Given the description of an element on the screen output the (x, y) to click on. 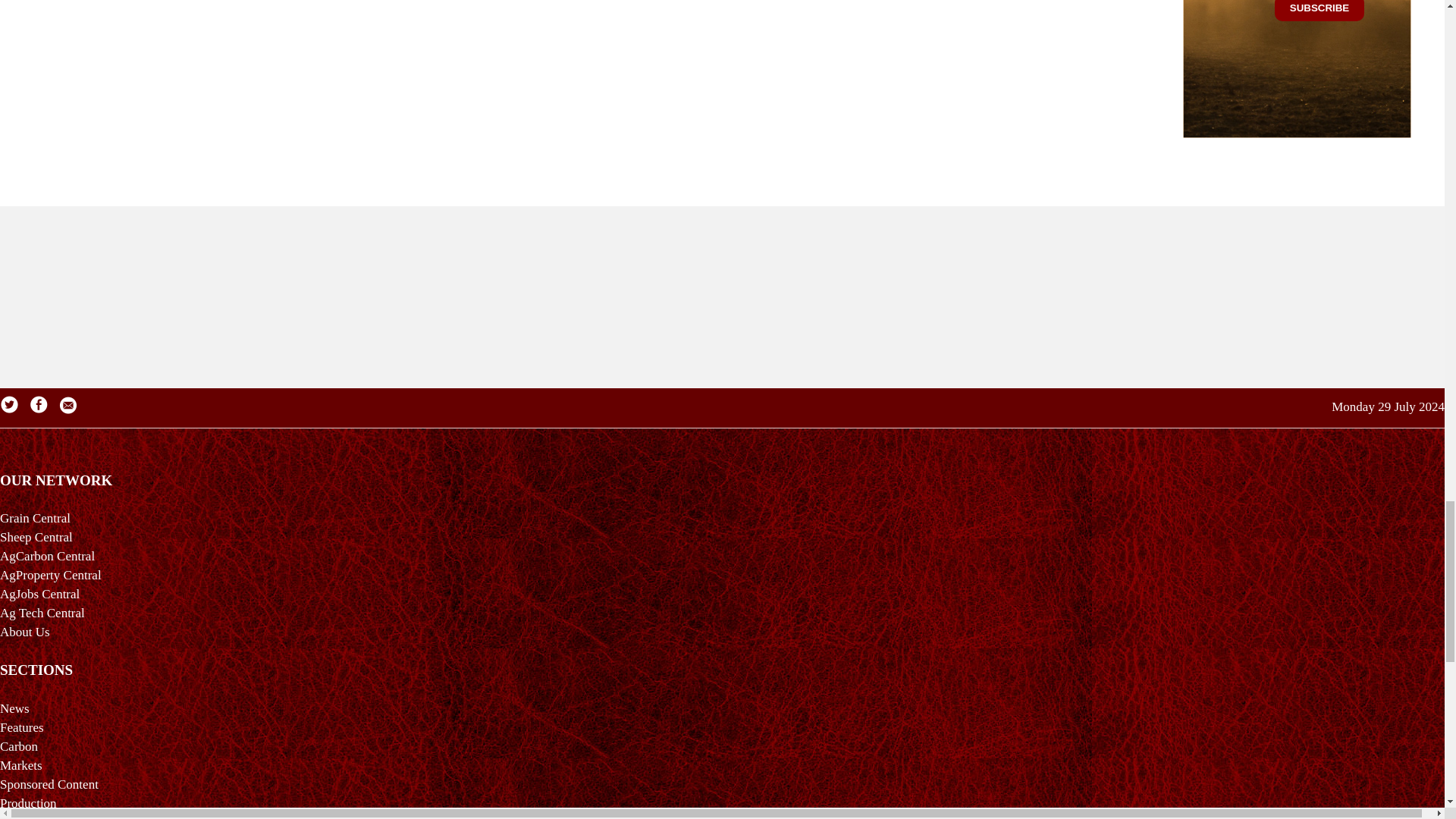
3rd party ad content (1296, 10)
3rd party ad content (721, 285)
